Given the description of an element on the screen output the (x, y) to click on. 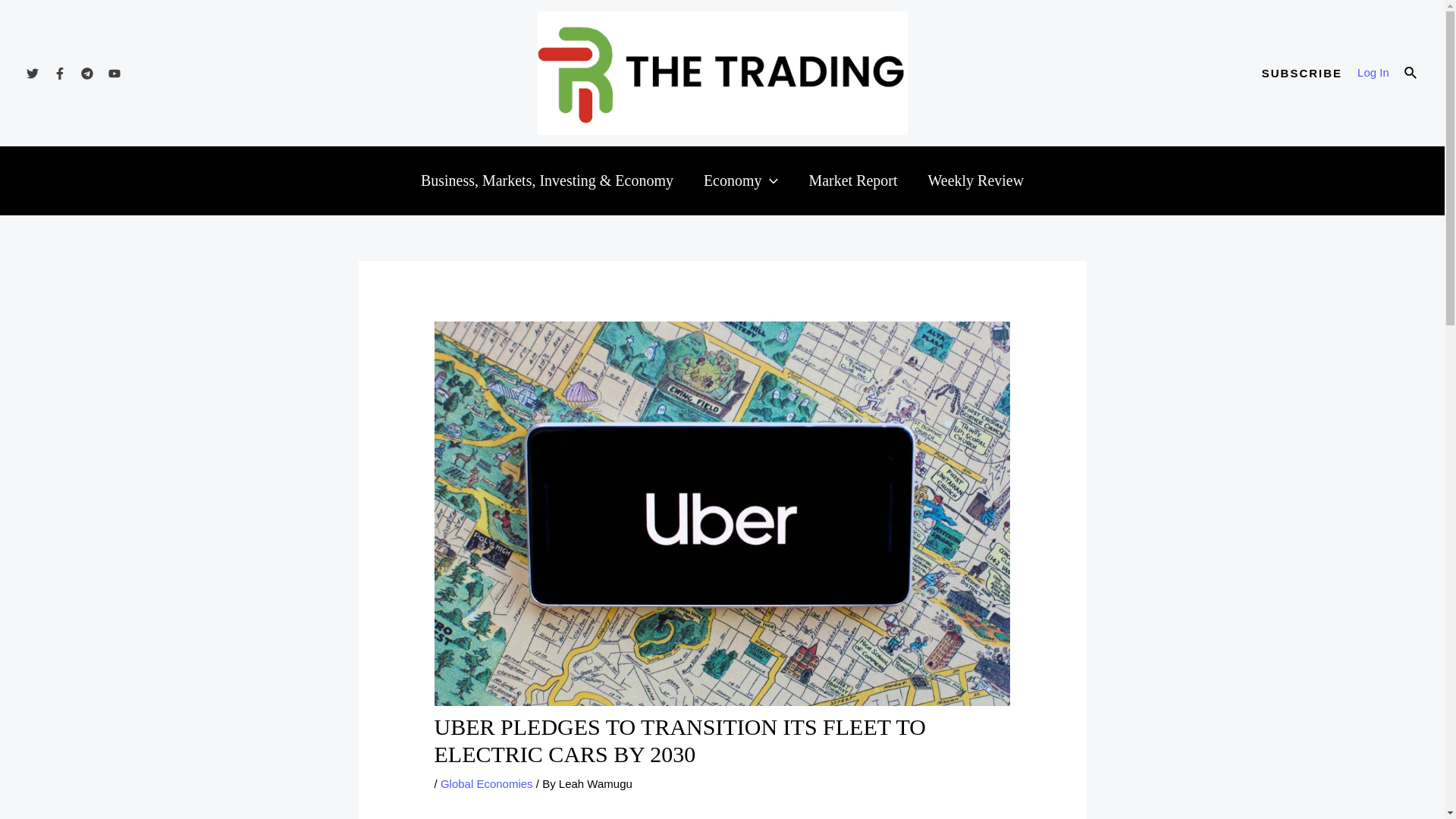
Leah Wamugu (595, 783)
Global Economies (486, 783)
Log In (1372, 72)
Market Report (852, 180)
View all posts by Leah Wamugu (595, 783)
Weekly Review (975, 180)
Economy (740, 180)
SUBSCRIBE (1302, 72)
